Given the description of an element on the screen output the (x, y) to click on. 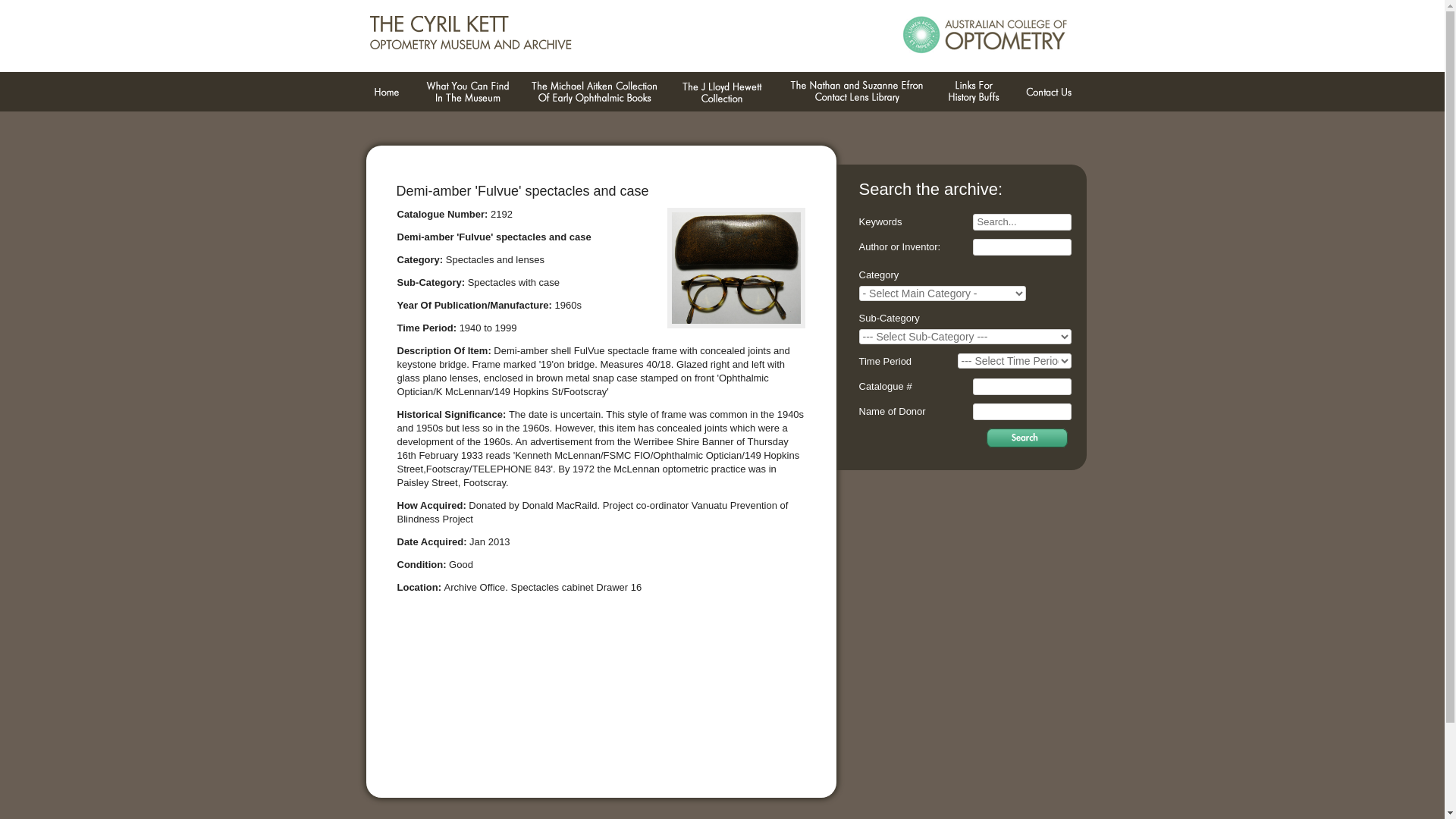
WHAT YOU CAN FIND IN THE MUSEUM Element type: text (466, 91)
THE NATHAN AND SUZANNE EFRON CONTACT LENS LIBRARY Element type: text (855, 91)
THE MICHAEL AITKEN COLLECTION OF EARLY OPHTHALMIC BOOKS Element type: text (594, 91)
Search Element type: text (1026, 437)
HOME Element type: text (385, 91)
CONTACT US Element type: text (1047, 91)
LINKS FOR HISTORY BUFFS Element type: text (972, 91)
THE J LLOYD HEWETT COLLECTION Element type: text (722, 91)
